Given the description of an element on the screen output the (x, y) to click on. 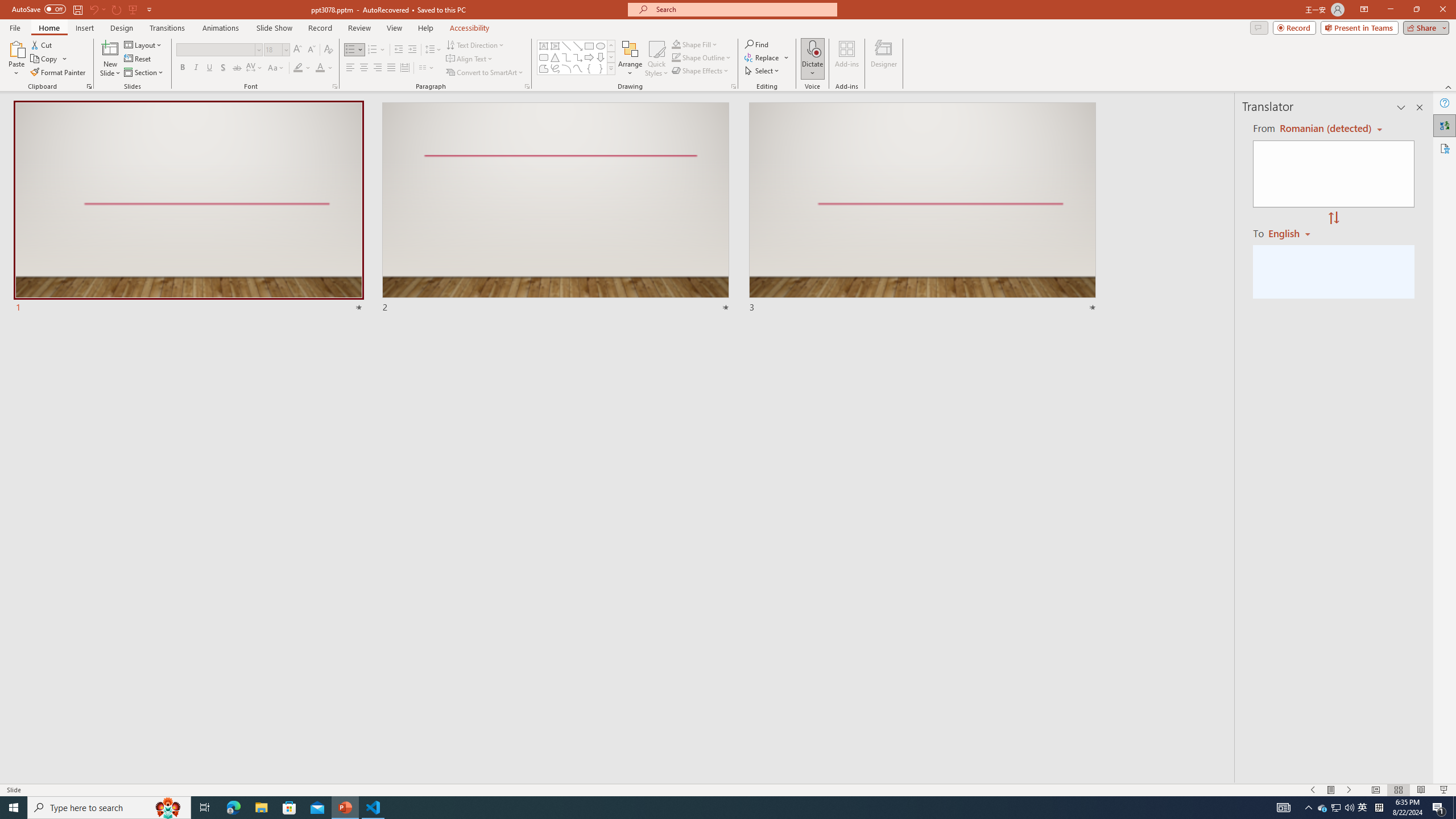
Czech (detected) (1323, 128)
Menu On (1331, 790)
Romanian (1293, 232)
